Given the description of an element on the screen output the (x, y) to click on. 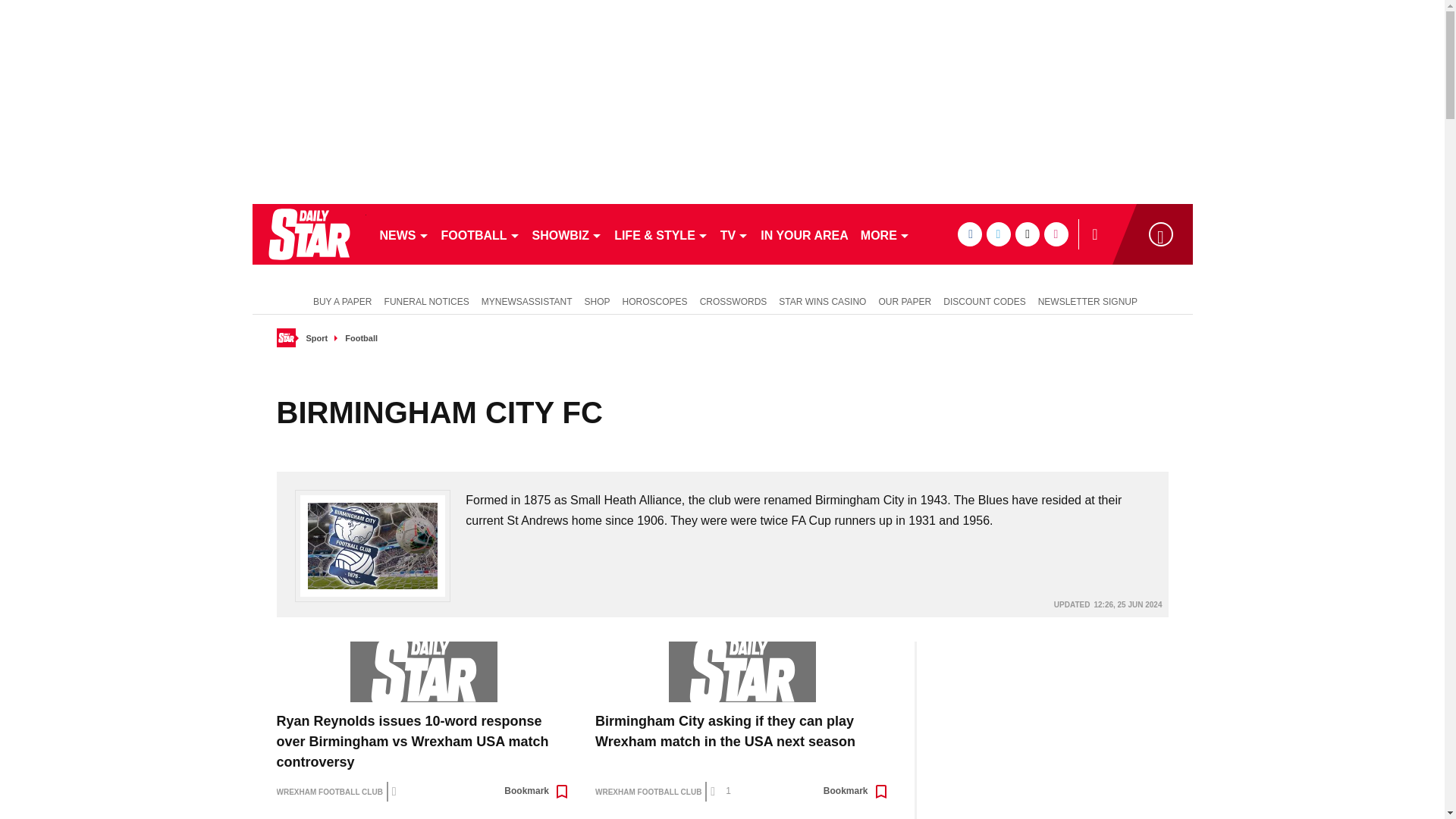
dailystar (308, 233)
twitter (997, 233)
NEWS (402, 233)
SHOWBIZ (566, 233)
FOOTBALL (480, 233)
tiktok (1026, 233)
facebook (968, 233)
instagram (1055, 233)
